Given the description of an element on the screen output the (x, y) to click on. 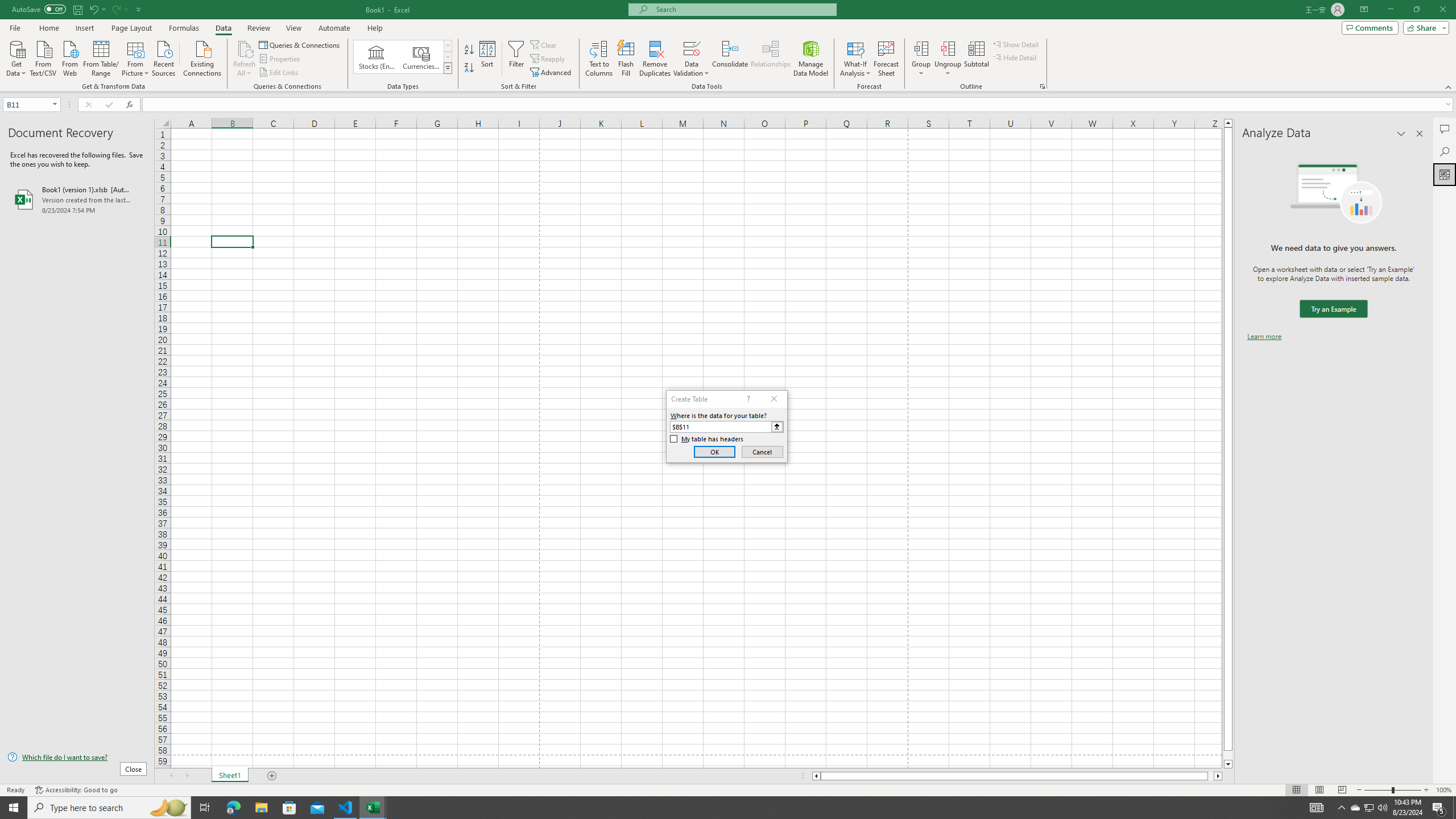
Show Detail (1016, 44)
Filter (515, 58)
Forecast Sheet (885, 58)
We need data to give you answers. Try an Example (1333, 308)
